Given the description of an element on the screen output the (x, y) to click on. 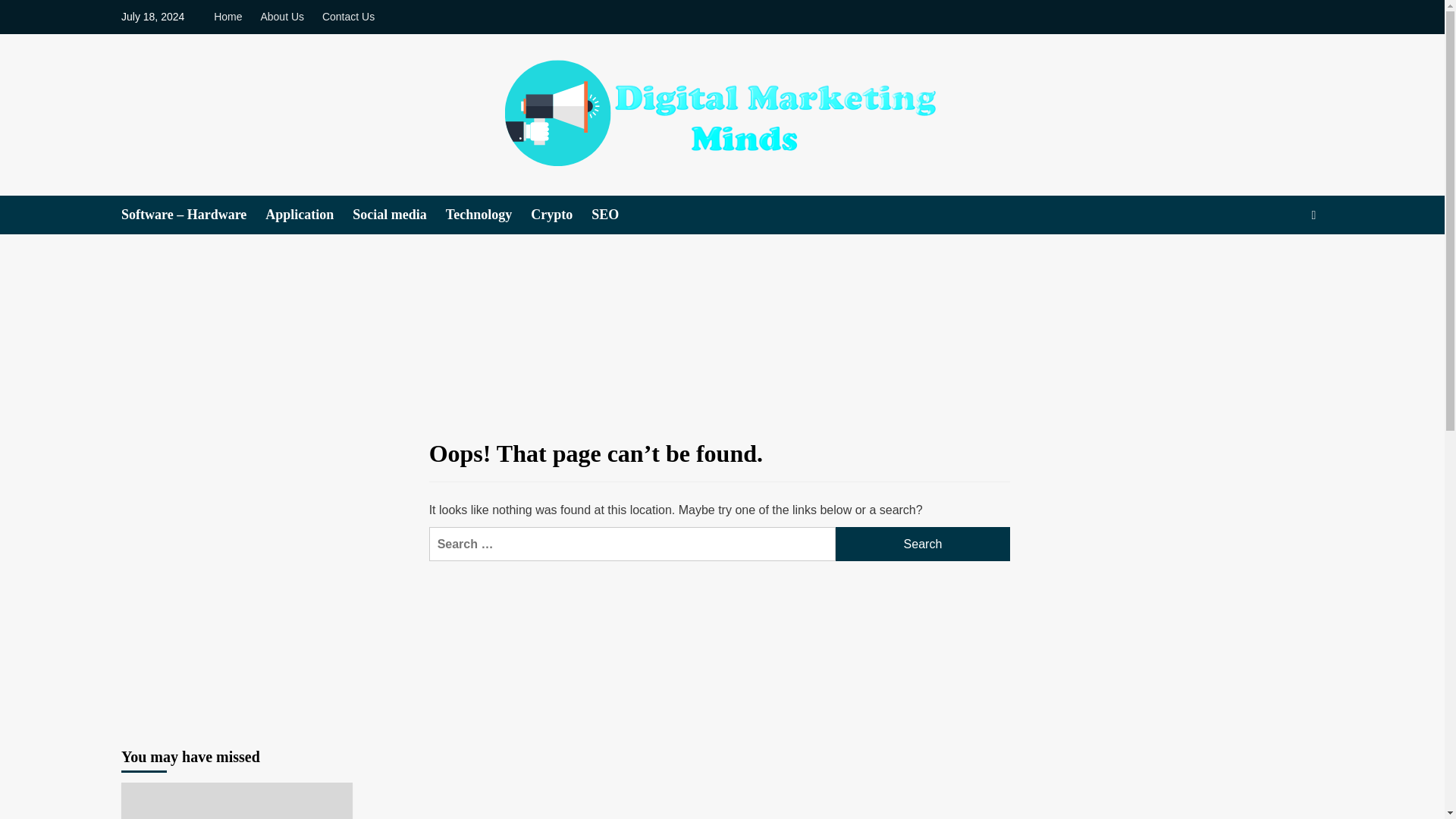
Search (922, 544)
Contact Us (347, 17)
Crypto (561, 214)
Application (308, 214)
Search (1278, 261)
About Us (281, 17)
Home (231, 17)
Search (922, 544)
Technology (488, 214)
Social media (398, 214)
Search (922, 544)
SEO (614, 214)
